Given the description of an element on the screen output the (x, y) to click on. 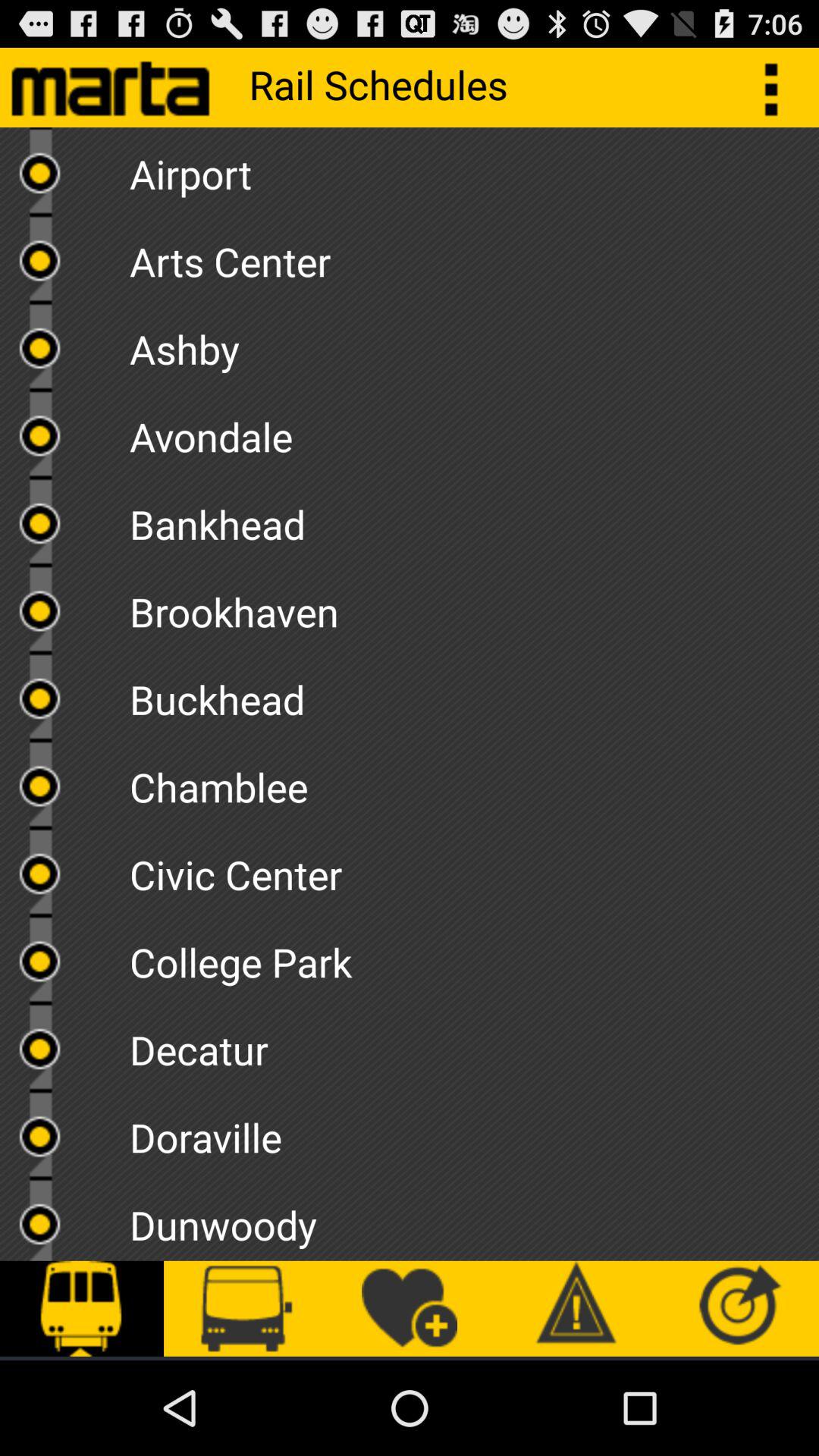
click icon at the top right corner (779, 87)
